Given the description of an element on the screen output the (x, y) to click on. 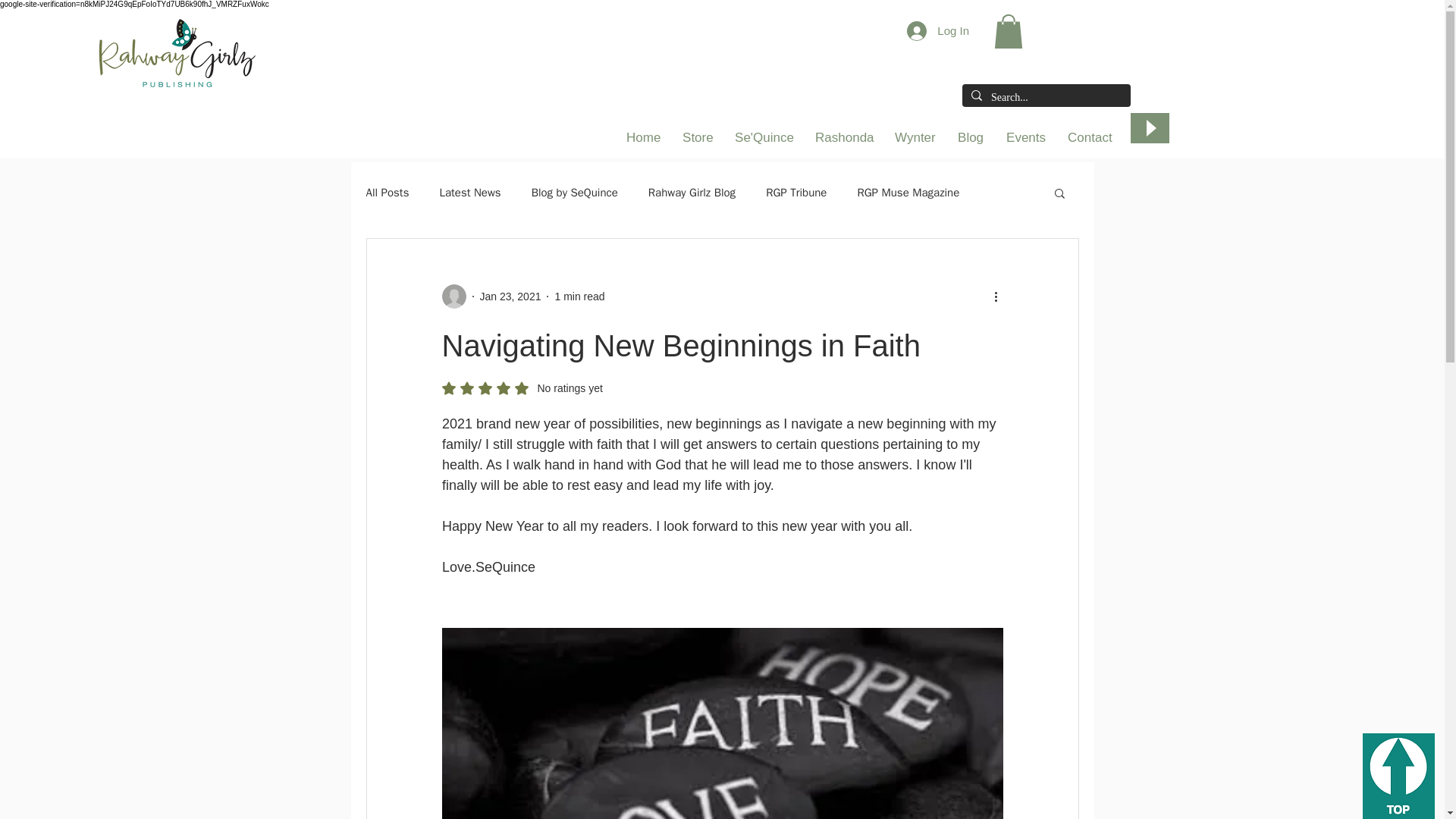
Store (697, 137)
Latest News (469, 192)
Blog (970, 137)
Home (642, 137)
All Posts (387, 192)
RGP Muse Magazine (908, 192)
Blog by SeQuince (574, 192)
Events (1025, 137)
Contact (1089, 137)
Rashonda (843, 137)
Se'Quince (763, 137)
Rahway Girlz Blog (691, 192)
RGP Tribune (796, 192)
Jan 23, 2021 (509, 296)
Wynter (914, 137)
